Given the description of an element on the screen output the (x, y) to click on. 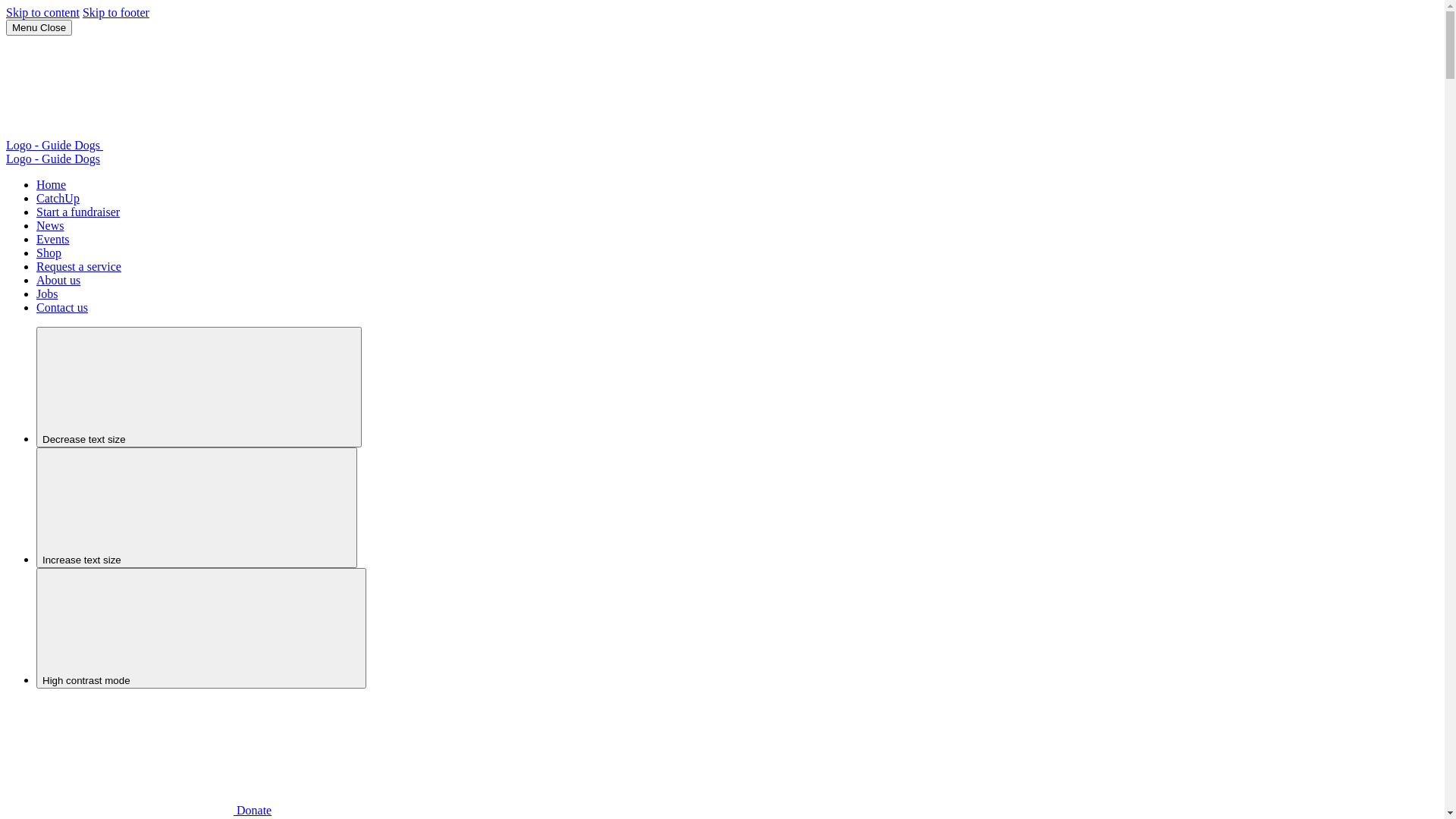
About us Element type: text (58, 279)
Jobs Element type: text (46, 293)
Logo - Guide Dogs Element type: text (168, 144)
Contact us Element type: text (61, 307)
Home Element type: text (50, 184)
News Element type: text (49, 225)
CatchUp Element type: text (57, 197)
Skip to content Element type: text (42, 12)
Start a fundraiser Element type: text (77, 211)
Request a service Element type: text (78, 266)
Decrease text size Element type: text (198, 386)
Increase text size Element type: text (196, 507)
Skip to footer Element type: text (115, 12)
Menu Close Element type: text (39, 27)
Logo - Guide Dogs Element type: text (53, 158)
Events Element type: text (52, 238)
High contrast mode Element type: text (201, 627)
Shop Element type: text (48, 252)
Donate Element type: text (138, 809)
